Given the description of an element on the screen output the (x, y) to click on. 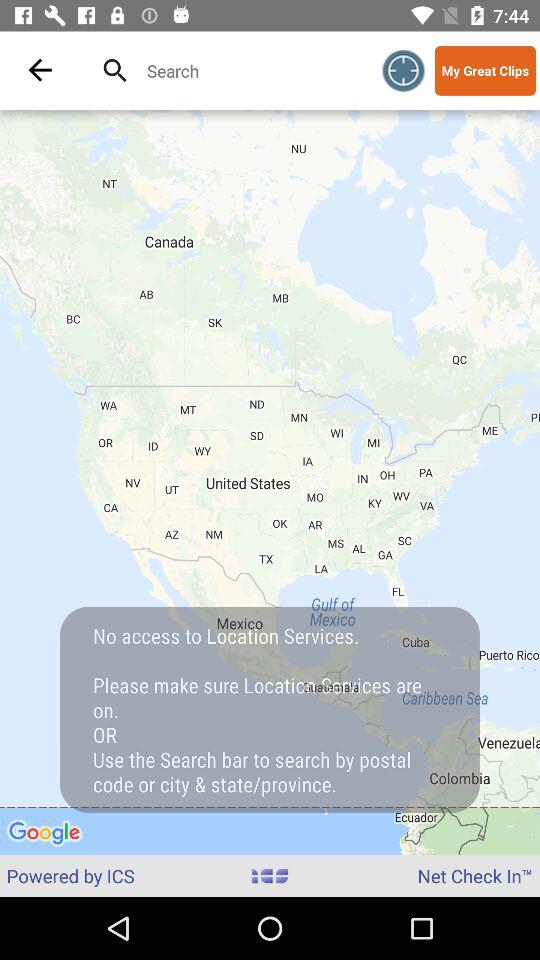
turn on item to the left of the my great clips item (403, 70)
